Given the description of an element on the screen output the (x, y) to click on. 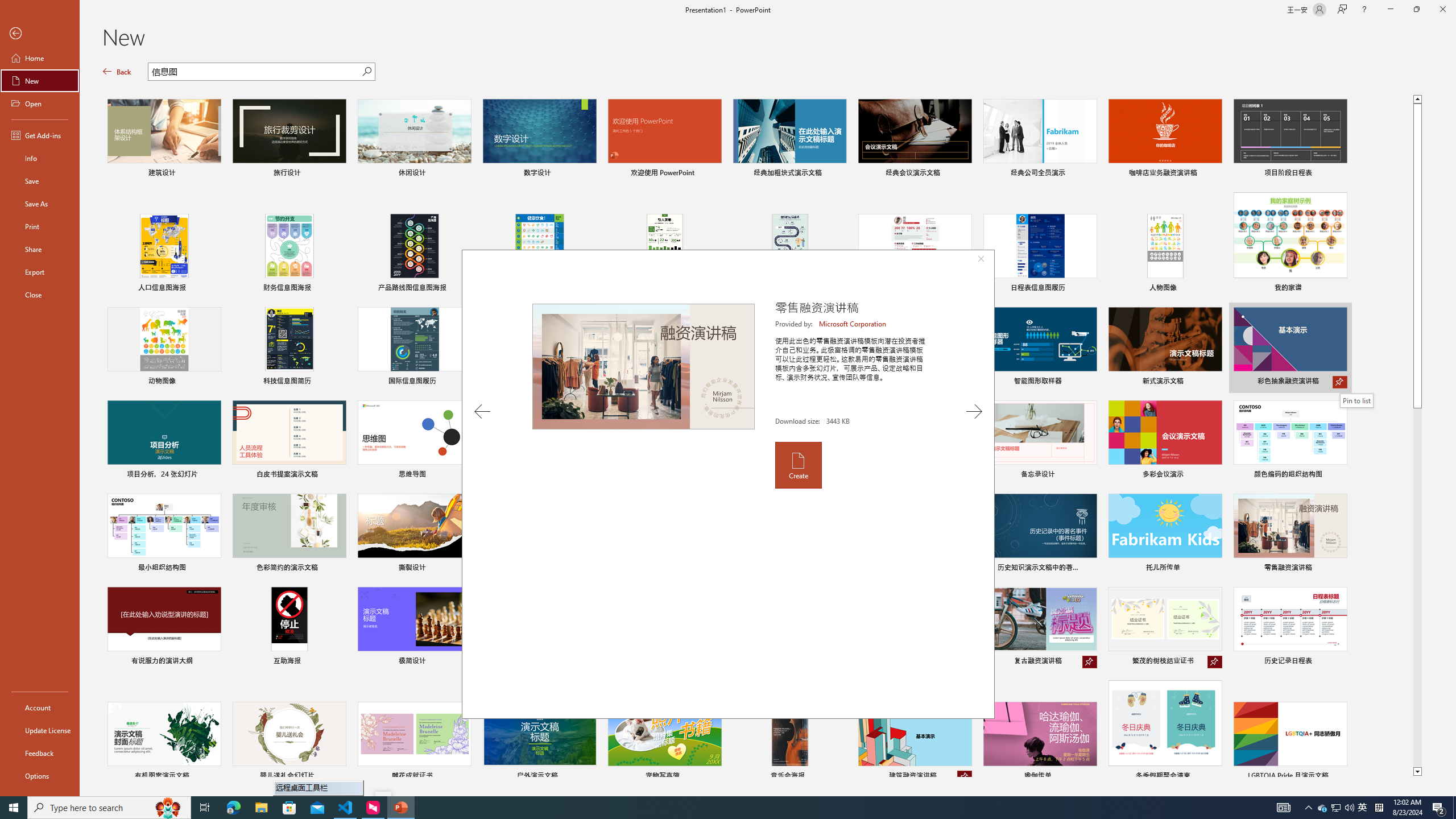
Feedback (40, 753)
New (40, 80)
Get Add-ins (40, 134)
Options (40, 775)
Unpin from list (964, 776)
Export (40, 271)
